Given the description of an element on the screen output the (x, y) to click on. 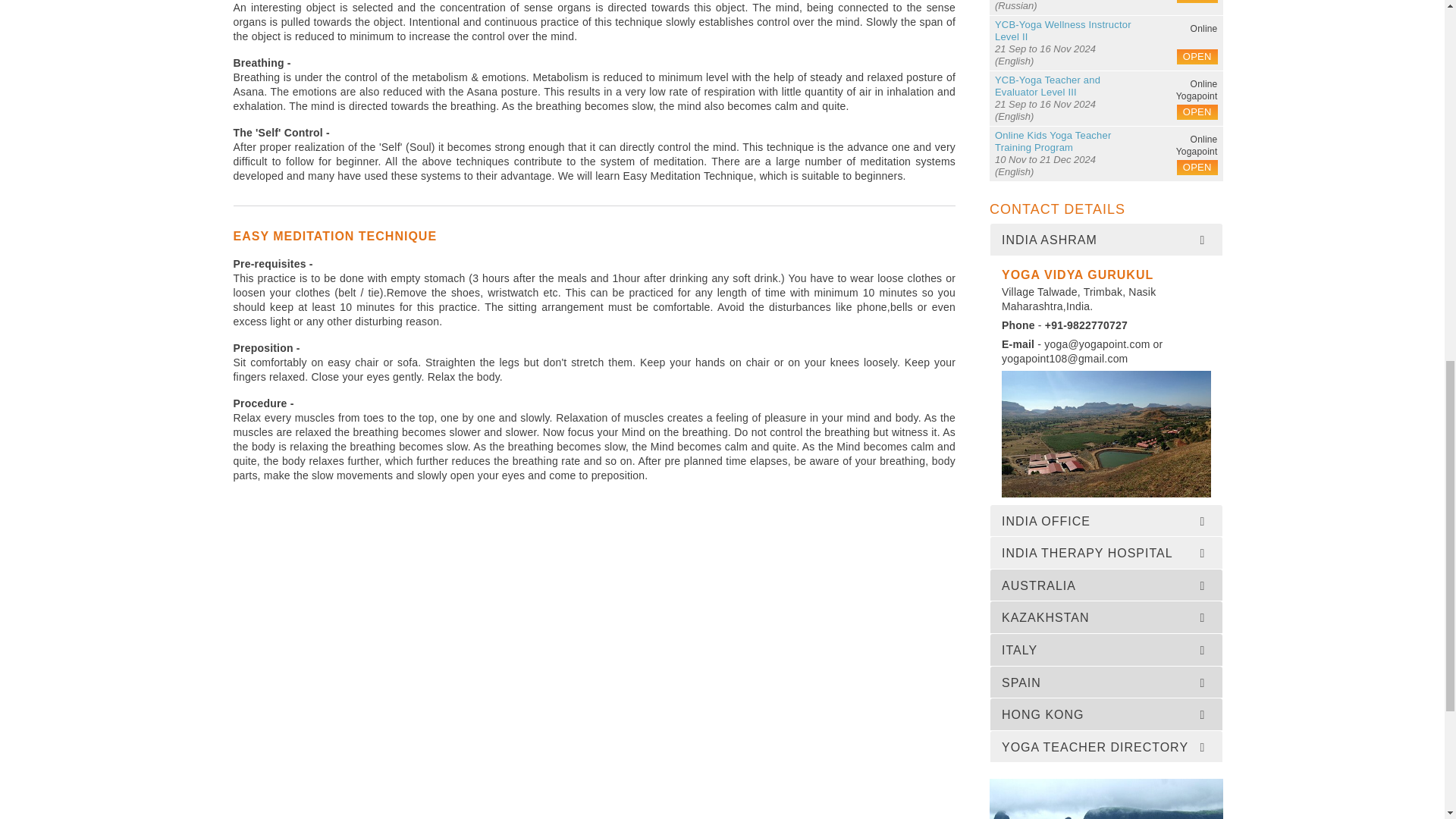
Know More Yoga Vidya Gurukul (1106, 433)
Online  (1185, 29)
Online Yogapoint  (1185, 140)
Online Yogapoint  (1185, 84)
